Given the description of an element on the screen output the (x, y) to click on. 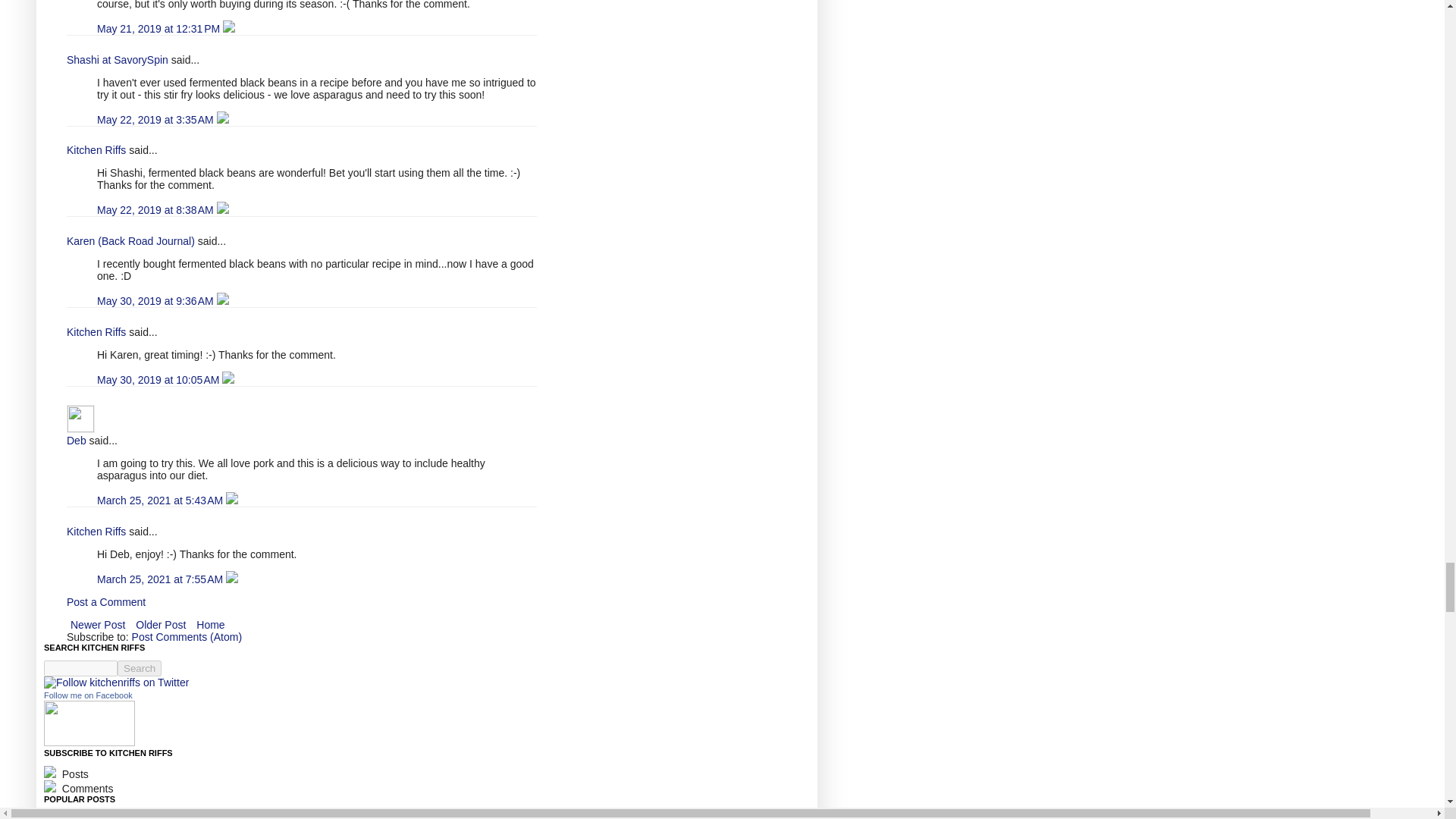
Search (139, 668)
Search (139, 668)
